Given the description of an element on the screen output the (x, y) to click on. 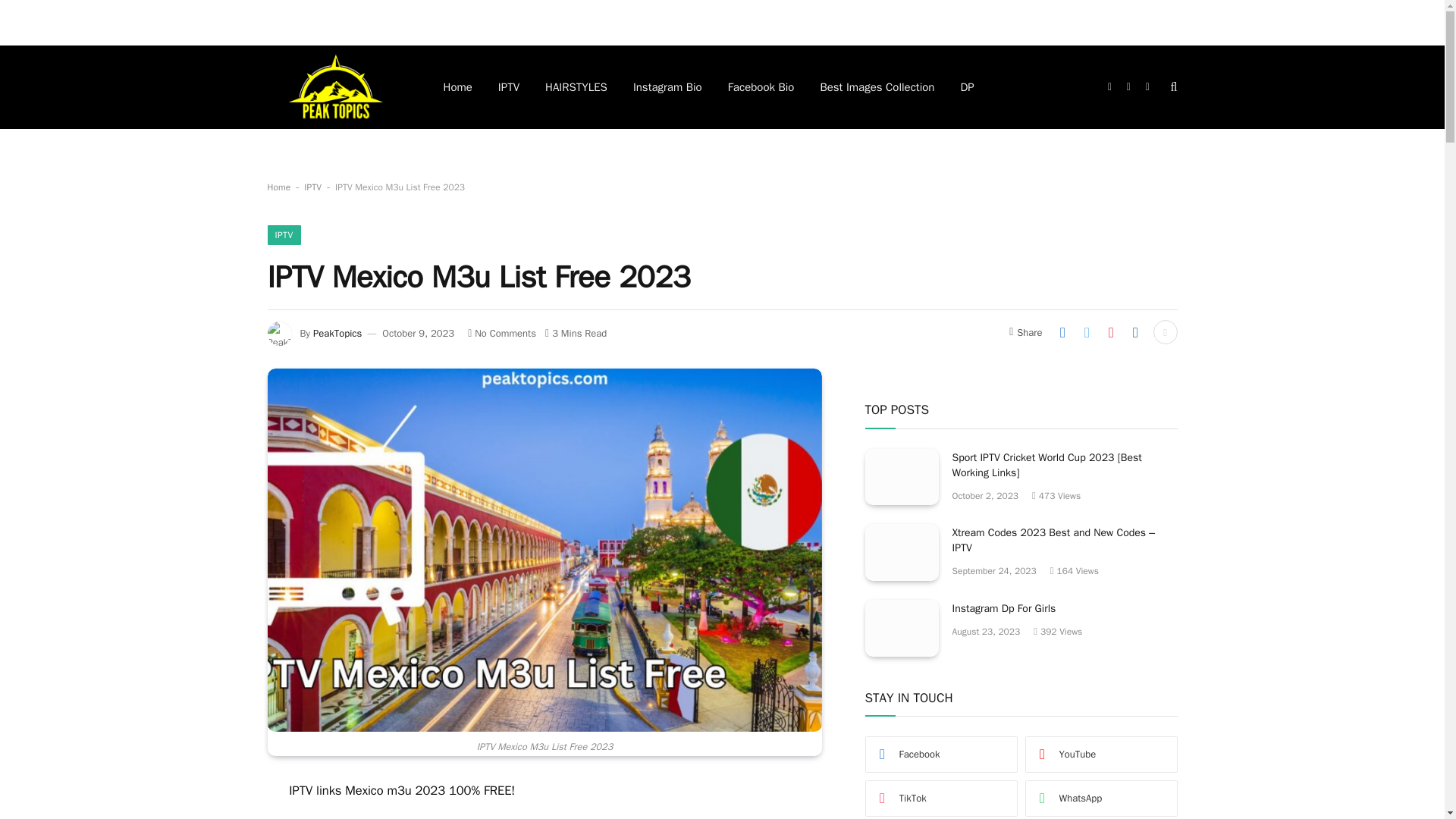
PeakTopics (337, 332)
Peak Topics (334, 86)
Share on LinkedIn (1135, 331)
IPTV (312, 186)
IPTV (282, 234)
Share on Pinterest (1110, 331)
Share on Facebook (1062, 331)
HAIRSTYLES (576, 86)
Best Images Collection (876, 86)
Instagram Bio (667, 86)
